Given the description of an element on the screen output the (x, y) to click on. 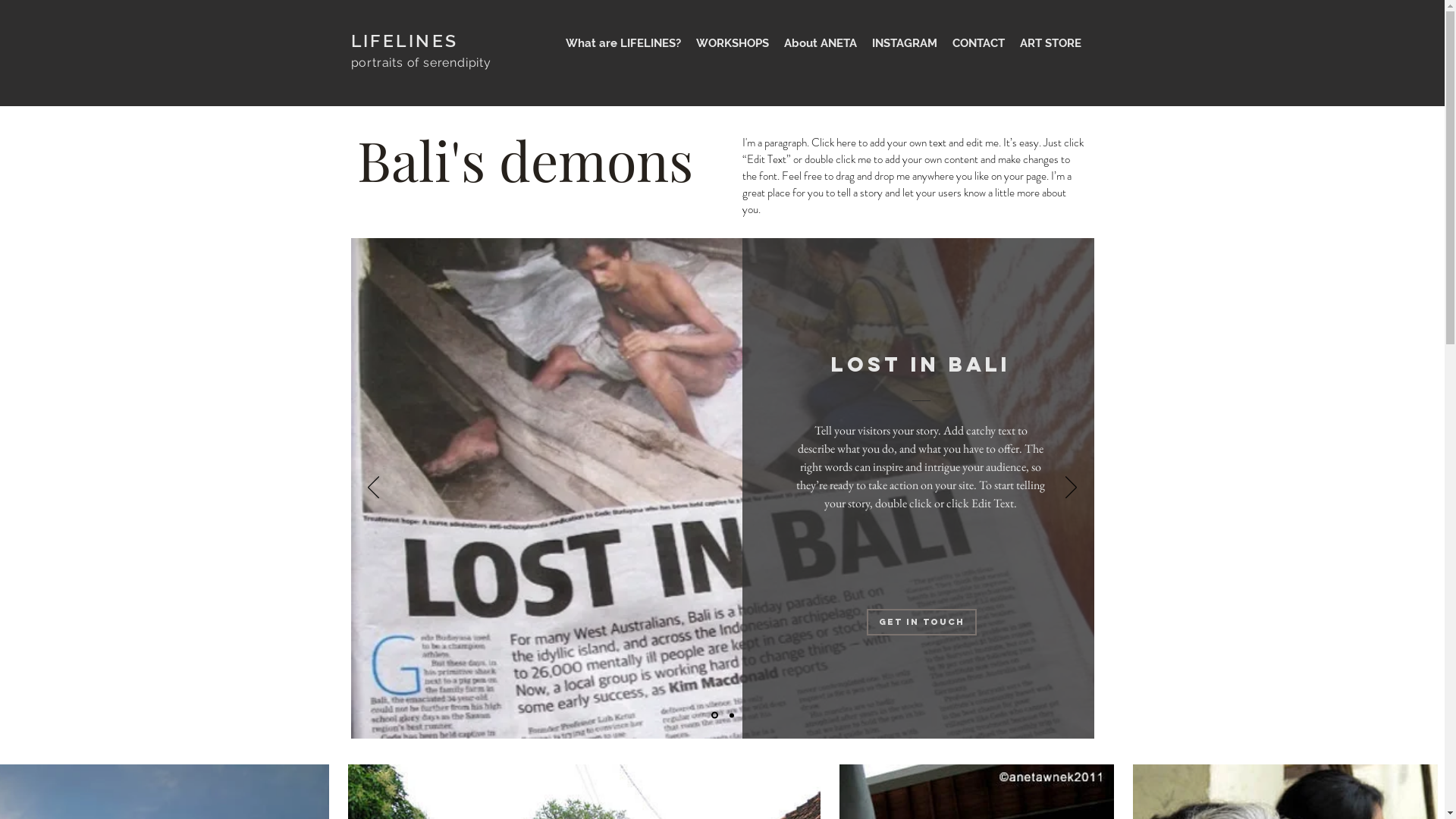
INSTAGRAM Element type: text (904, 43)
About ANETA Element type: text (820, 43)
WORKSHOPS Element type: text (732, 43)
What are LIFELINES? Element type: text (623, 43)
LIFELINES Element type: text (404, 39)
portraits of serendipity Element type: text (420, 62)
CONTACT Element type: text (978, 43)
ART STORE Element type: text (1049, 43)
